Given the description of an element on the screen output the (x, y) to click on. 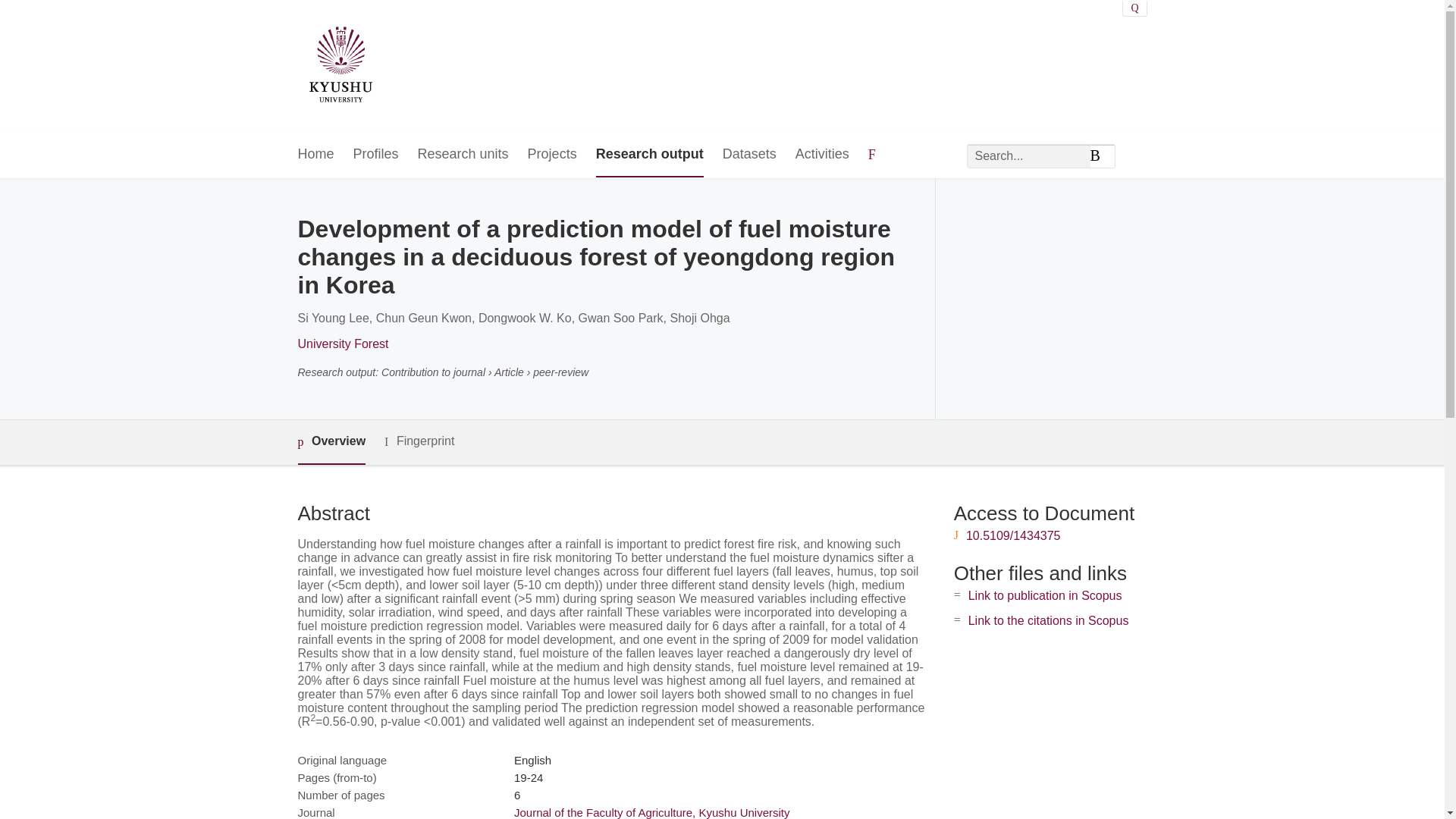
Profiles (375, 154)
Link to publication in Scopus (1045, 594)
Fingerprint (419, 441)
Activities (821, 154)
Journal of the Faculty of Agriculture, Kyushu University (651, 812)
Datasets (749, 154)
Link to the citations in Scopus (1048, 620)
University Forest (342, 343)
Projects (551, 154)
